Given the description of an element on the screen output the (x, y) to click on. 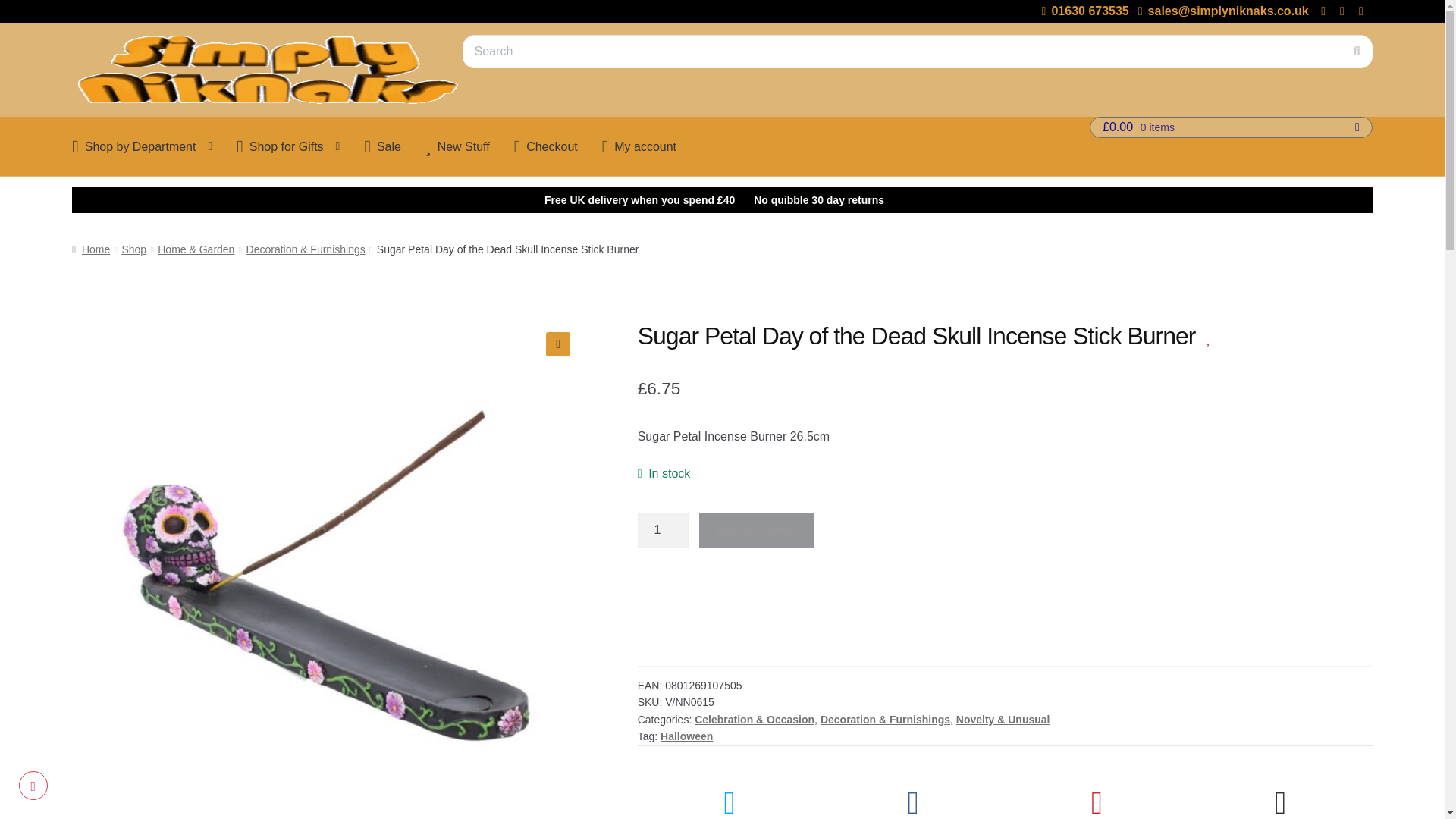
Shop by Department (141, 146)
Search for: (918, 51)
1 (662, 529)
01630 673535 (1082, 10)
View your shopping basket (1230, 127)
PayPal Message 1 (1005, 588)
PayPal (1005, 633)
